Given the description of an element on the screen output the (x, y) to click on. 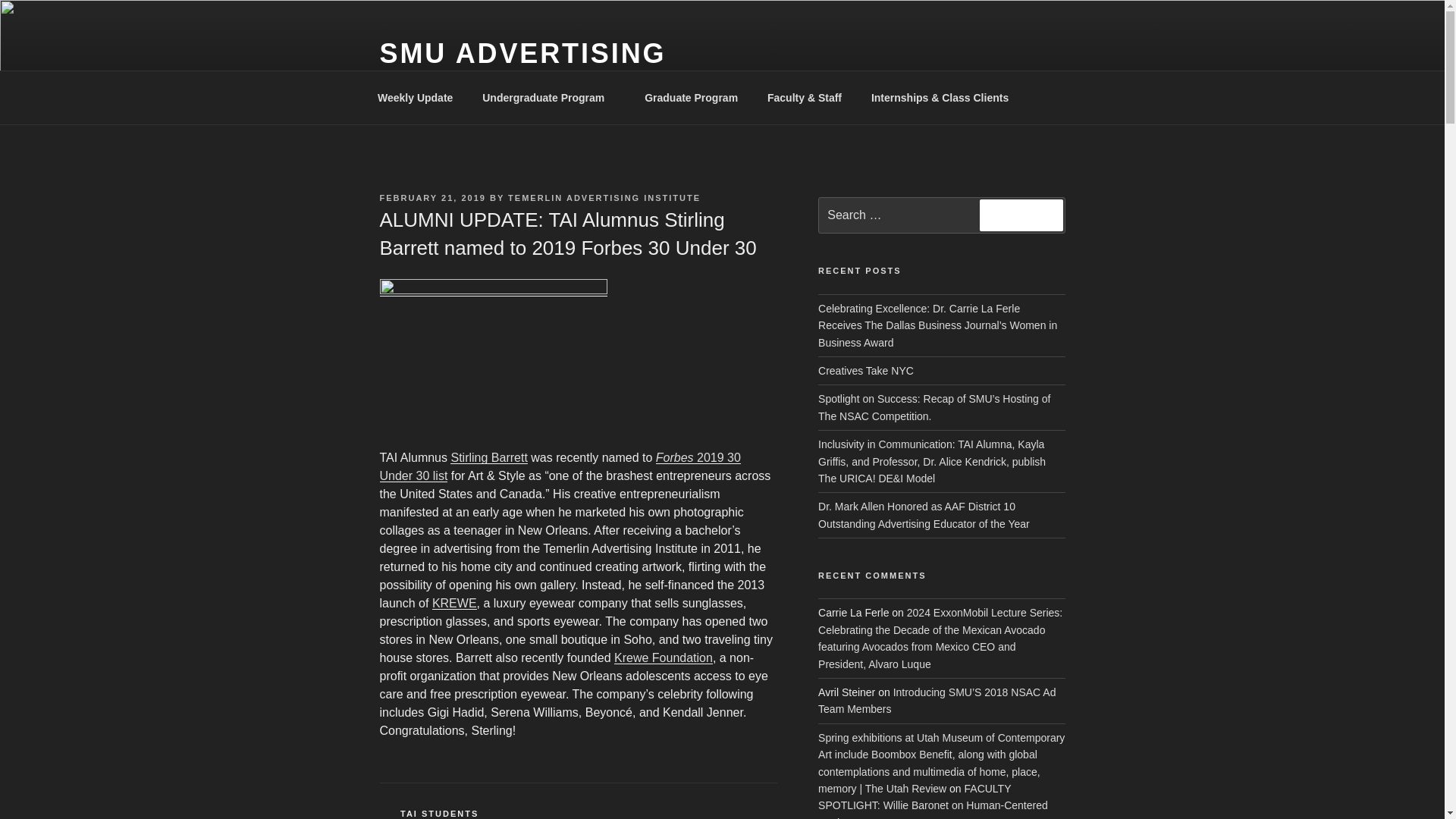
Stirling Barrett (488, 457)
KREWE (454, 603)
TAI STUDENTS (439, 813)
Search (1020, 214)
Creatives Take NYC (866, 370)
TEMERLIN ADVERTISING INSTITUTE (604, 197)
FEBRUARY 21, 2019 (431, 197)
Forbes 2019 30 Under 30 list (558, 466)
